Given the description of an element on the screen output the (x, y) to click on. 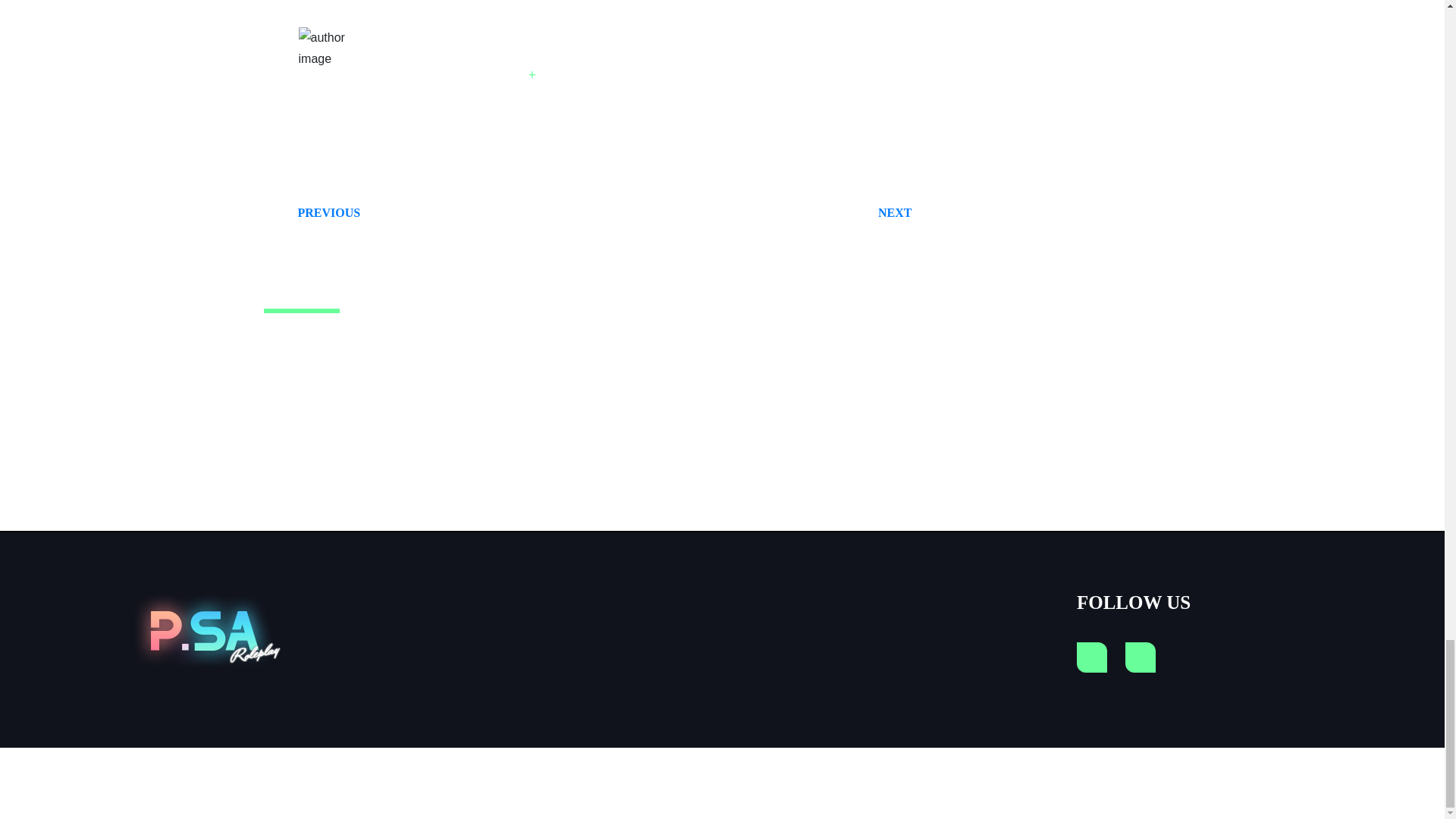
ALL AUTHOR POSTS (312, 212)
